Given the description of an element on the screen output the (x, y) to click on. 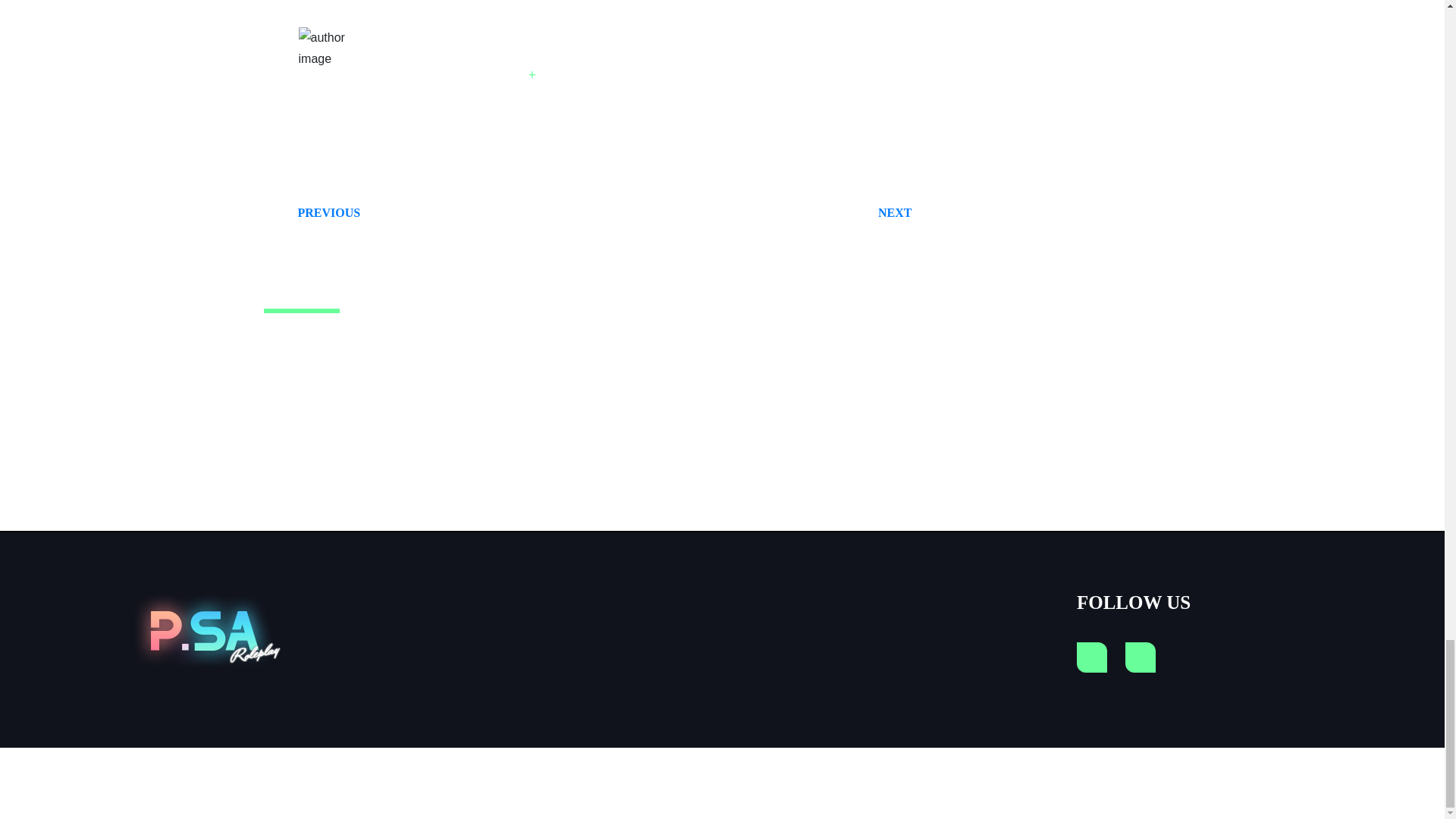
ALL AUTHOR POSTS (312, 212)
